Given the description of an element on the screen output the (x, y) to click on. 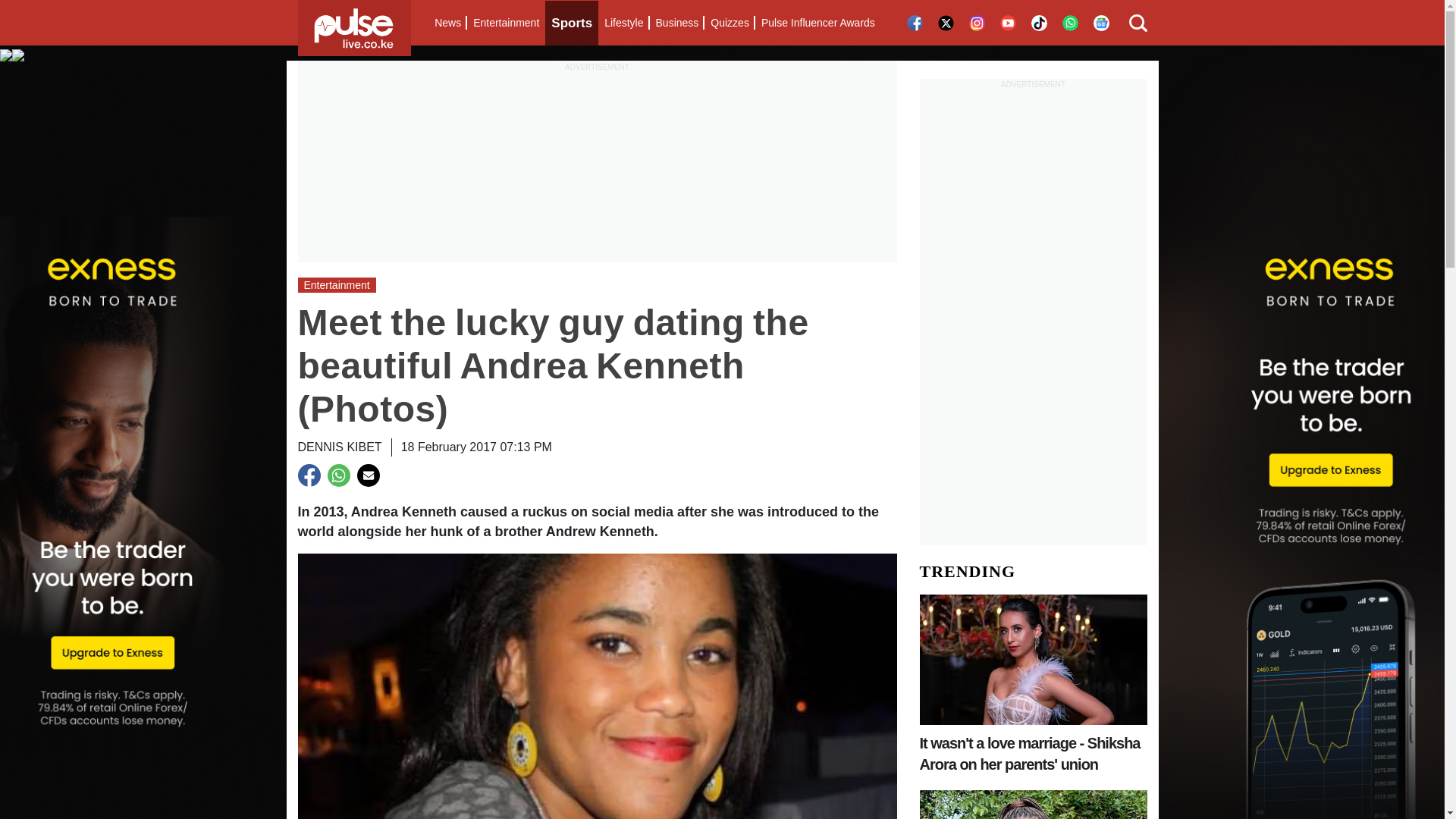
Sports (571, 22)
Business (676, 22)
Entertainment (505, 22)
Pulse Influencer Awards (817, 22)
Lifestyle (623, 22)
Quizzes (729, 22)
